Given the description of an element on the screen output the (x, y) to click on. 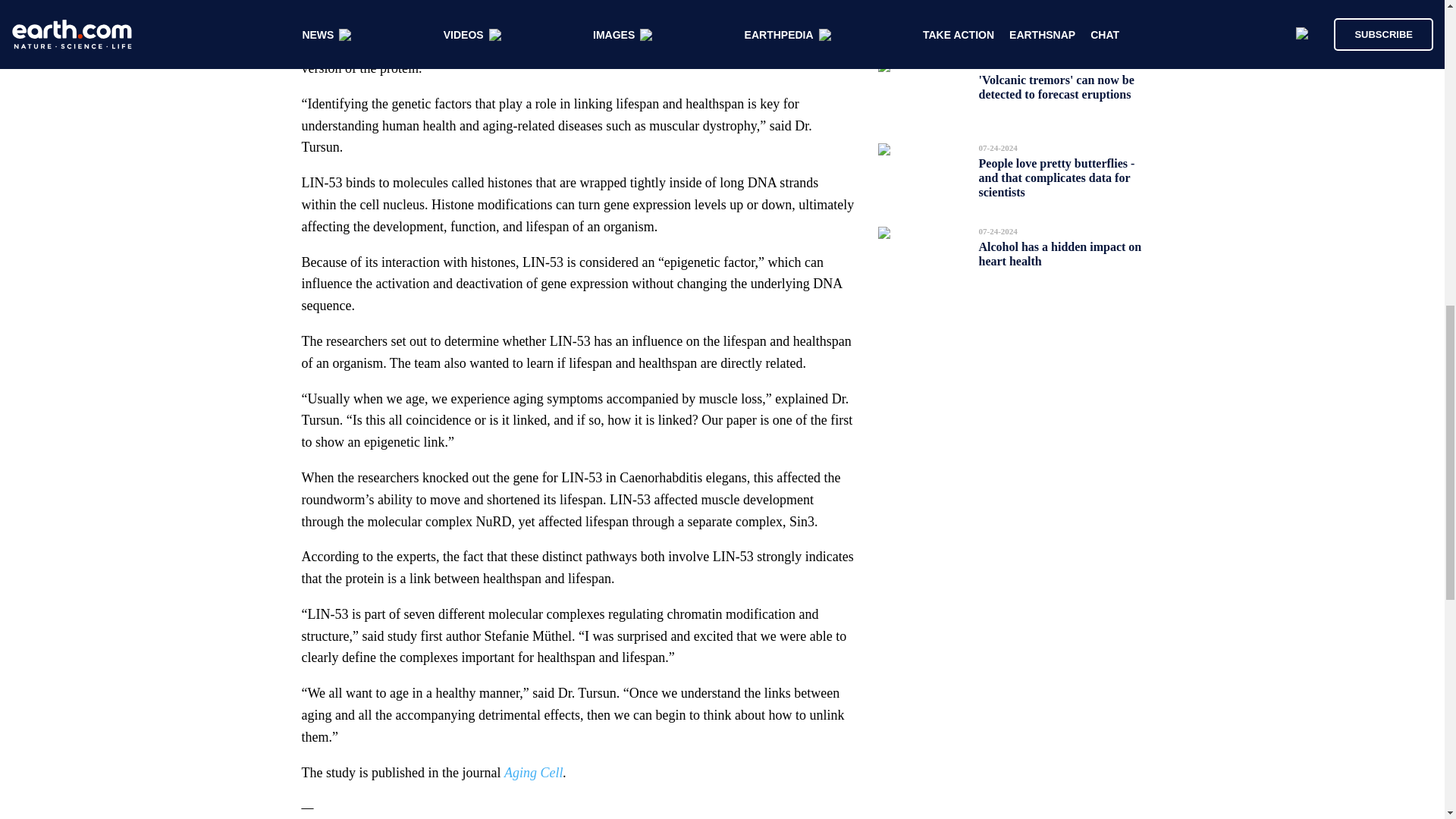
Aging Cell (533, 772)
'Volcanic tremors' can now be detected to forecast eruptions (1056, 87)
Alcohol has a hidden impact on heart health (1059, 253)
Daylight saving time causes unhealthy lifestyle choices (1049, 12)
